Given the description of an element on the screen output the (x, y) to click on. 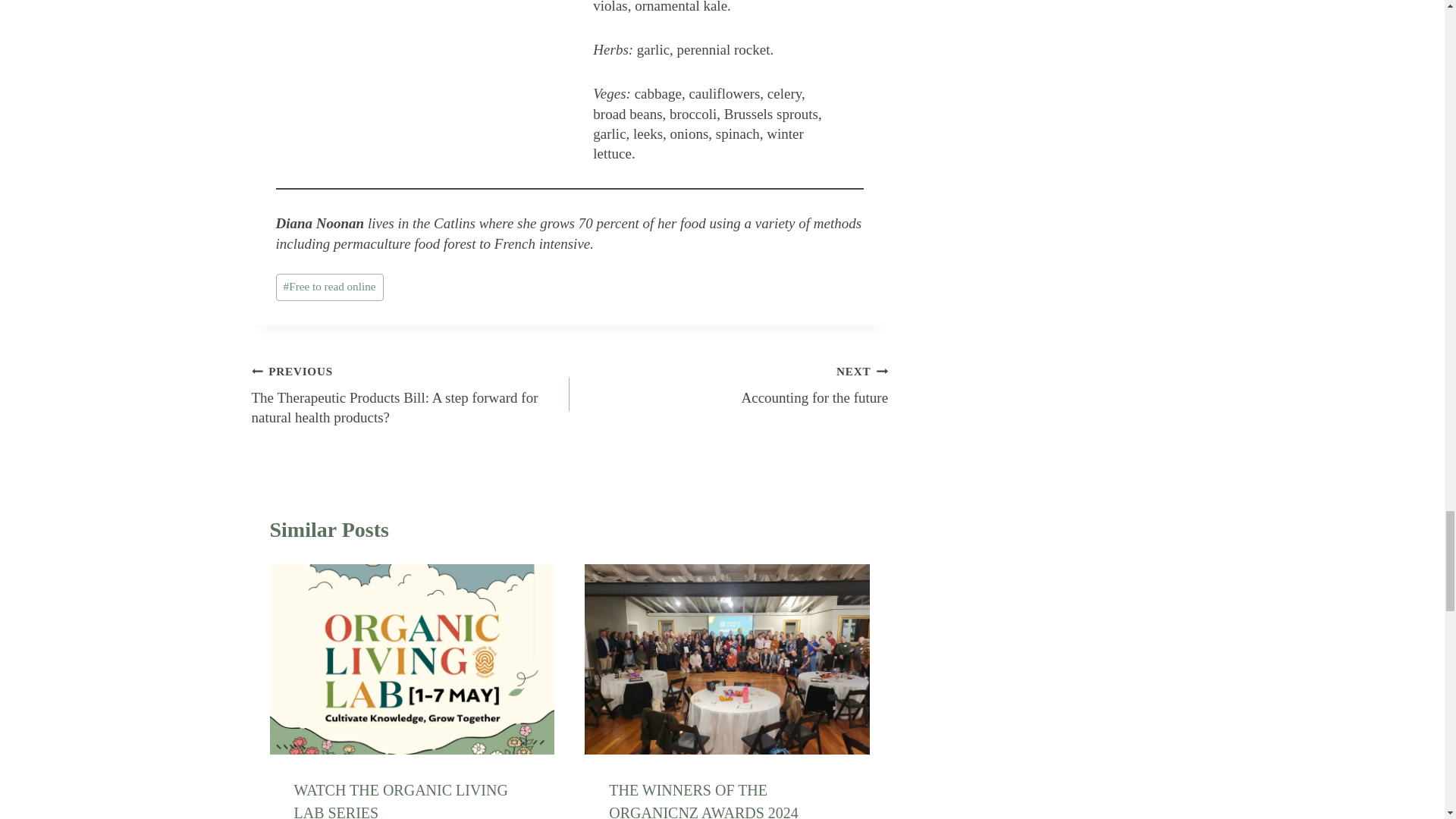
THE WINNERS OF THE ORGANICNZ AWARDS 2024 (728, 384)
WATCH THE ORGANIC LIVING LAB SERIES (702, 800)
Free to read online (401, 800)
